Given the description of an element on the screen output the (x, y) to click on. 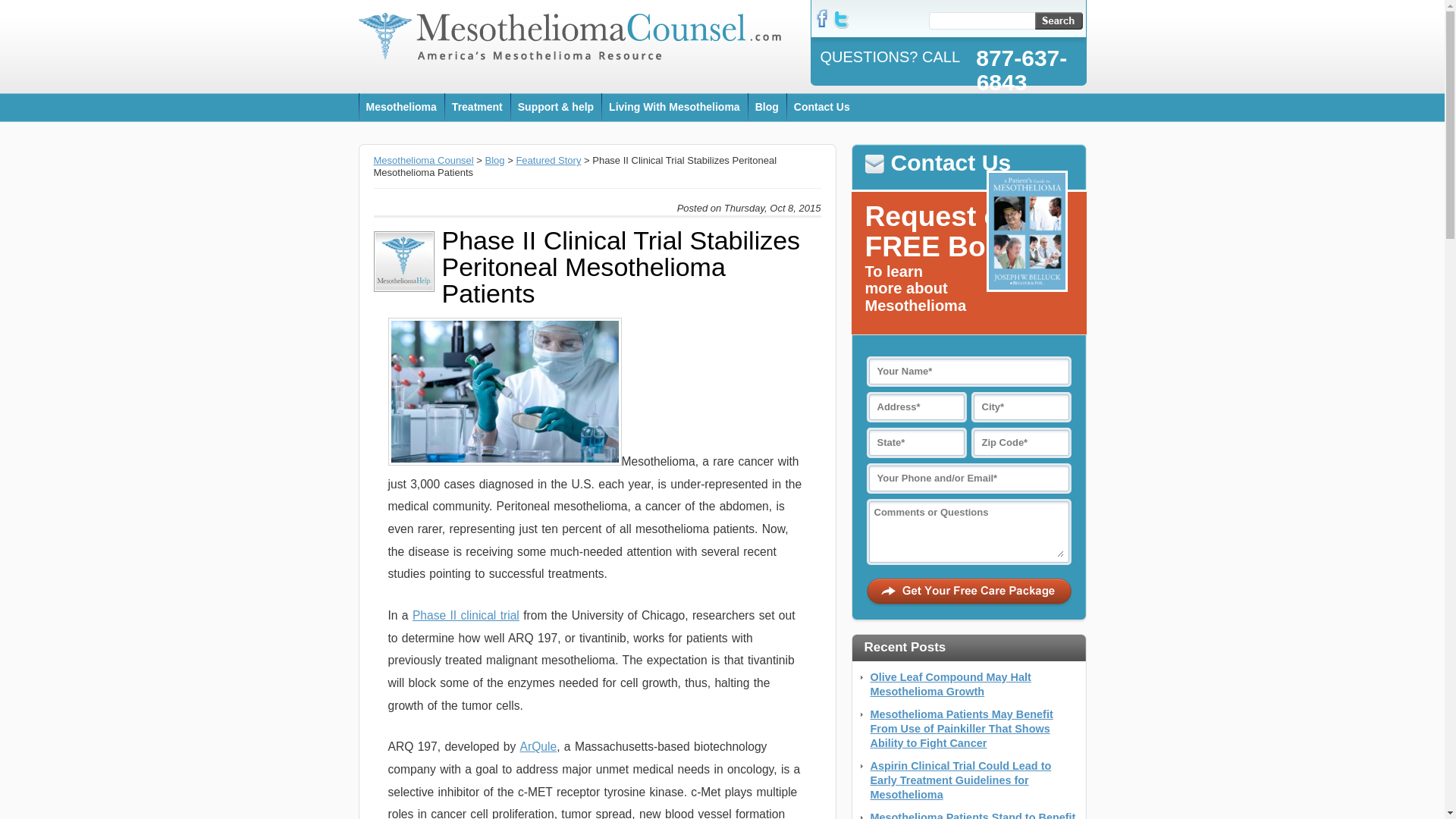
Blog (494, 160)
Go to Mesothelioma Counsel. (422, 160)
Get Your Free Care Package (968, 592)
Go to Blog. (494, 160)
Go to the Featured Story Category archives. (547, 160)
Get Your Free Care Package (968, 592)
Olive Leaf Compound May Halt Mesothelioma Growth (950, 683)
ArQule (538, 746)
Search (1057, 20)
Look Olive Leaf Compound May Halt Mesothelioma Growth (950, 683)
